Given the description of an element on the screen output the (x, y) to click on. 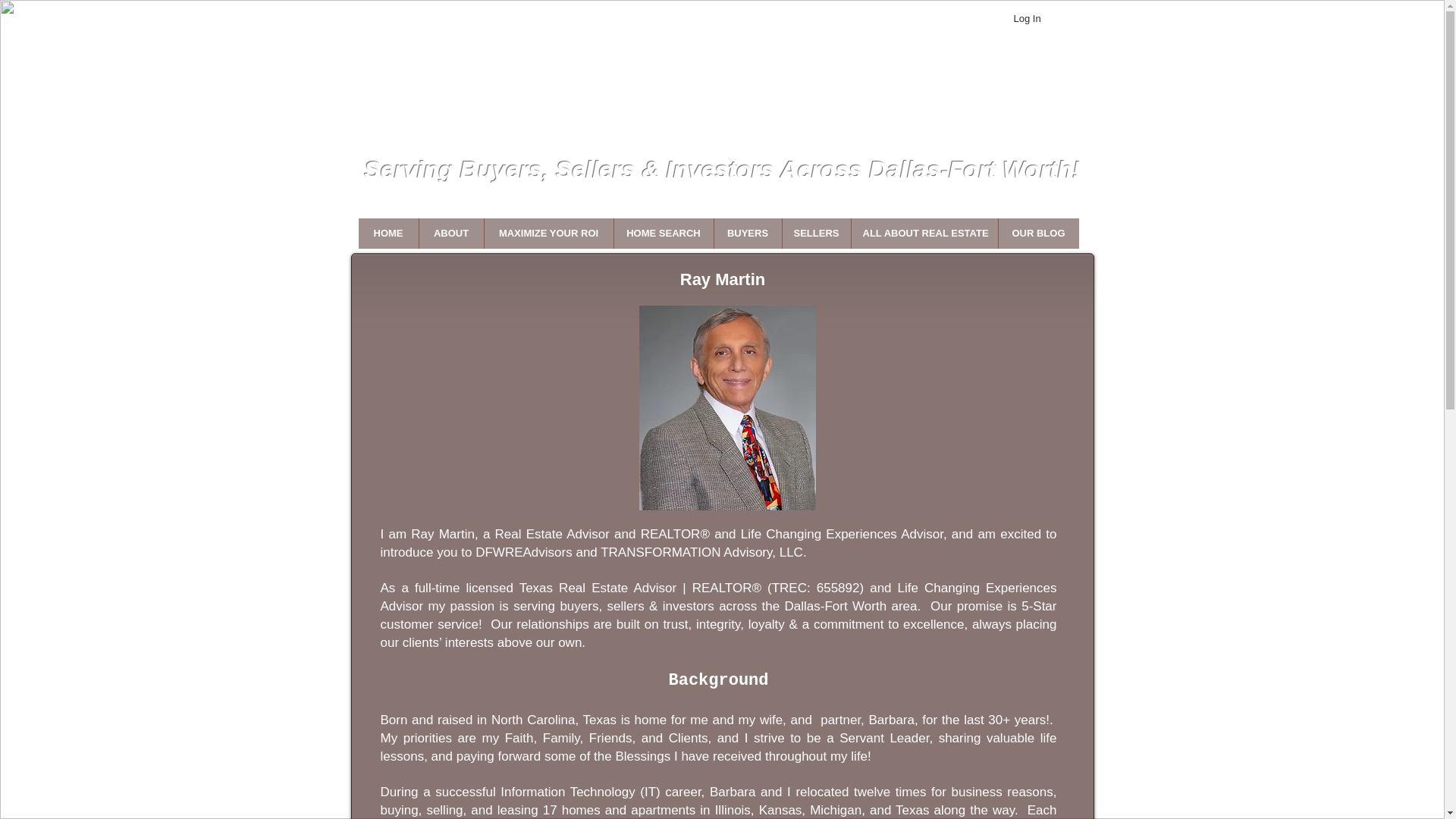
HOME SEARCH (662, 233)
MAXIMIZE YOUR ROI (547, 233)
BUYERS (746, 233)
HOME (387, 233)
Log In (1041, 18)
ABOUT (451, 233)
